Given the description of an element on the screen output the (x, y) to click on. 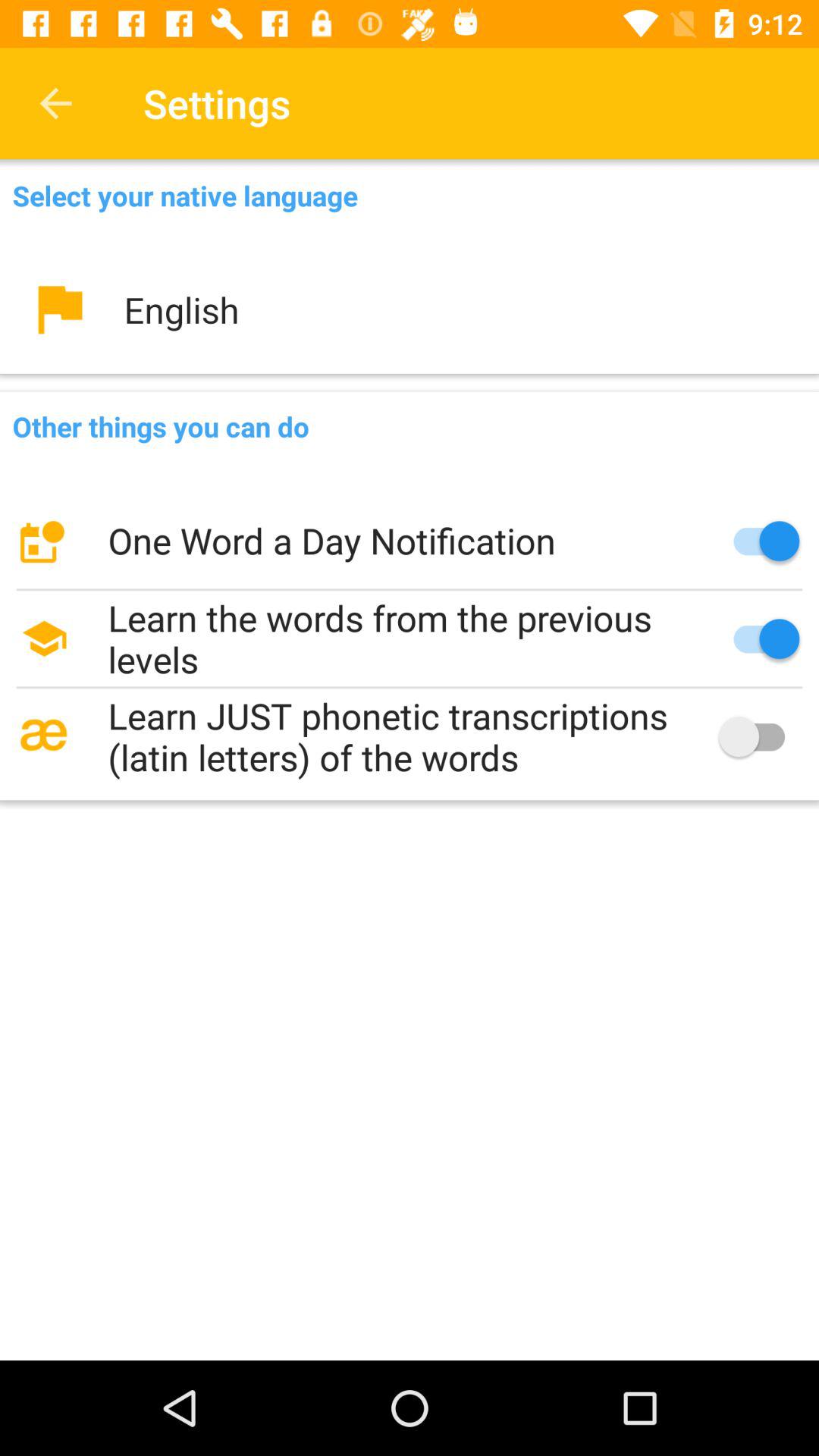
turn off icon below the select your native item (409, 309)
